Given the description of an element on the screen output the (x, y) to click on. 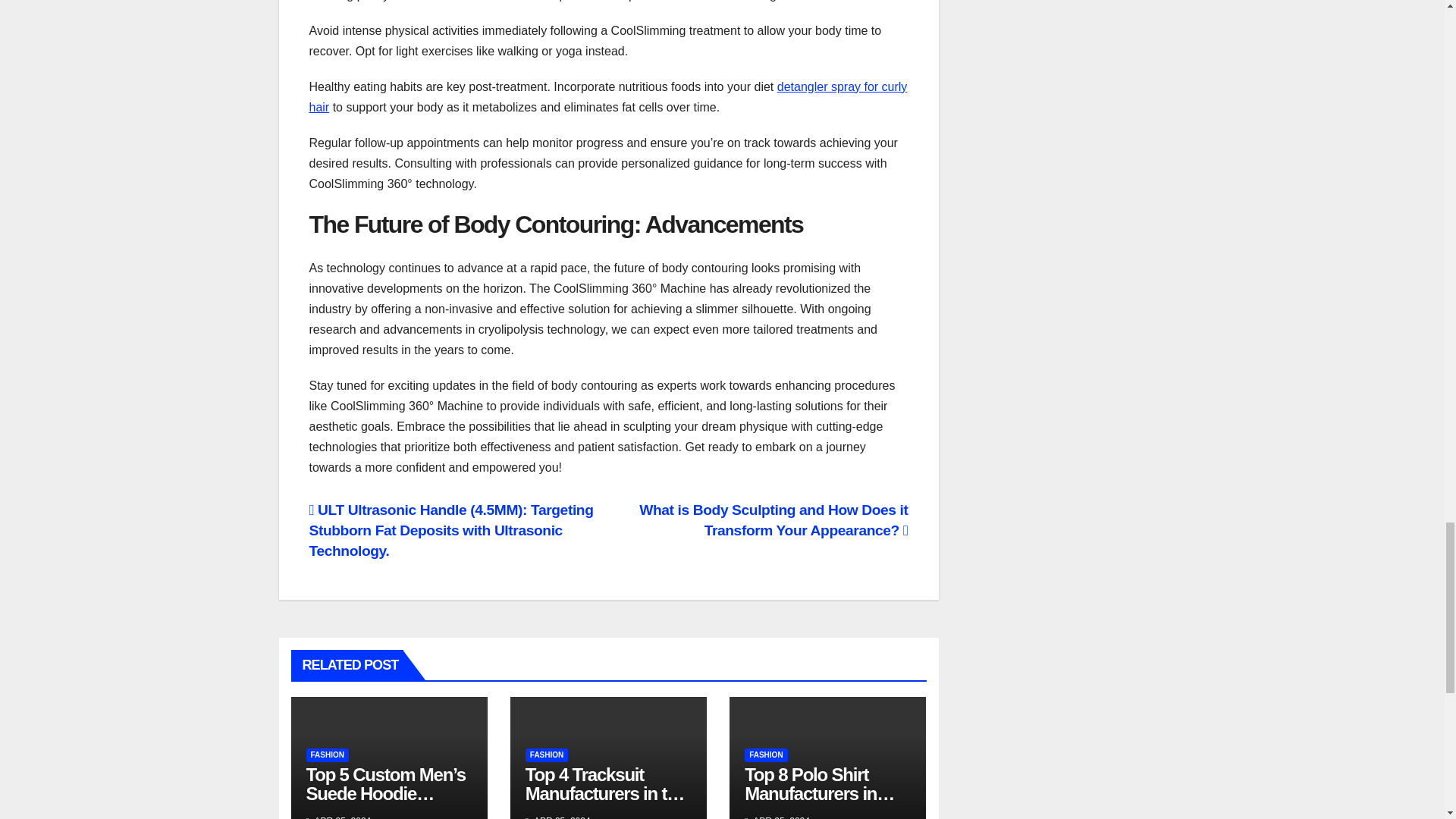
Permalink to: Top 8 Polo Shirt Manufacturers in South Africa (819, 791)
FASHION (546, 755)
detangler spray for curly hair (607, 96)
Top 8 Polo Shirt Manufacturers in South Africa (819, 791)
FASHION (765, 755)
Top 4 Tracksuit Manufacturers in the United Kingdom (605, 791)
FASHION (327, 755)
